Given the description of an element on the screen output the (x, y) to click on. 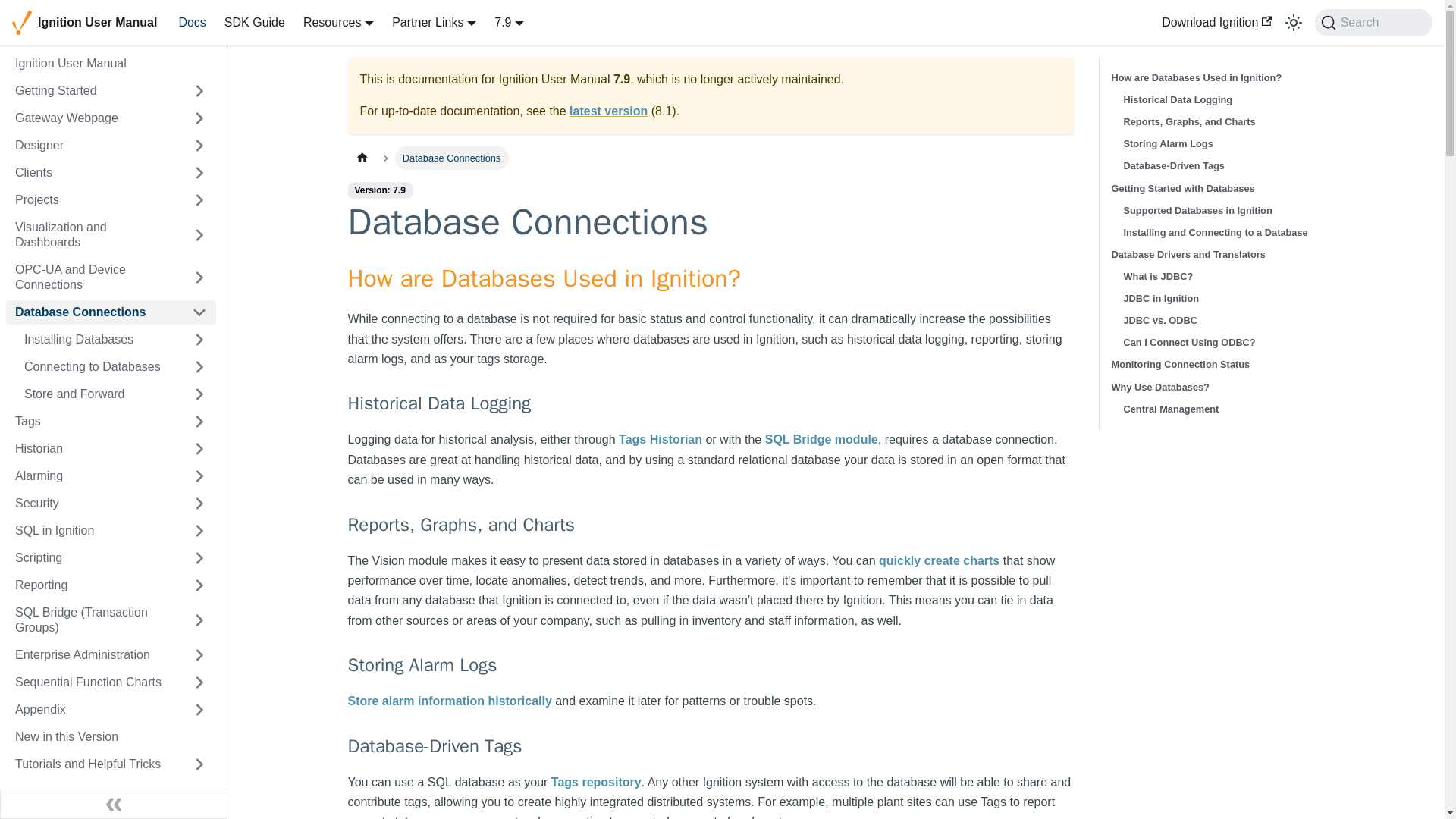
7.9 (509, 21)
Projects (94, 200)
Gateway Webpage (94, 118)
Docs (191, 22)
Getting Started (94, 90)
OPC-UA and Device Connections (94, 277)
Download Ignition (1217, 22)
Designer (94, 145)
Ignition User Manual (84, 22)
Database Connections (94, 312)
SDK Guide (254, 22)
Collapse sidebar (113, 803)
Partner Links (433, 21)
Search (1373, 22)
Clients (94, 172)
